Given the description of an element on the screen output the (x, y) to click on. 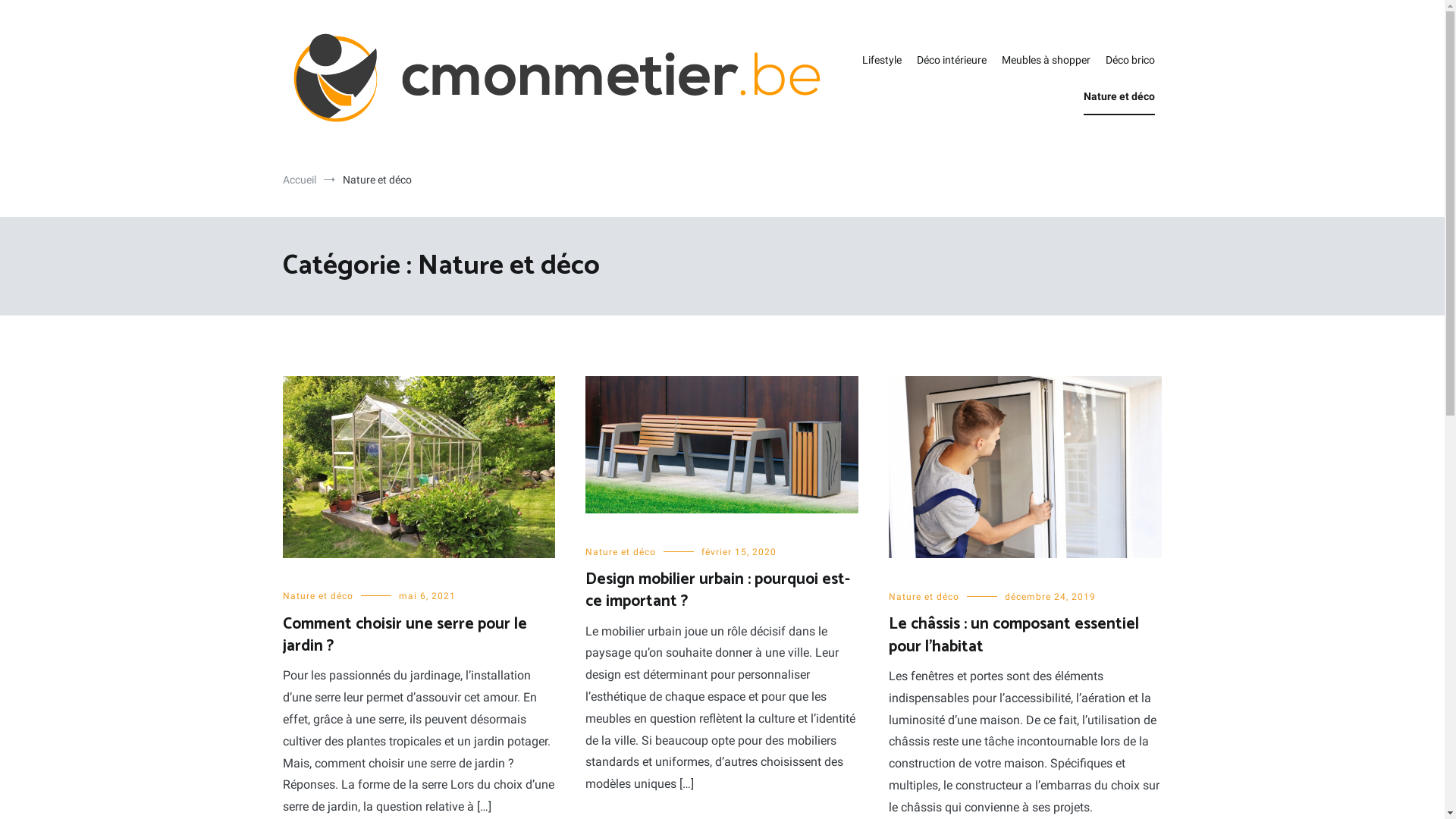
Rechercher Element type: text (56, 16)
Accueil Element type: text (298, 179)
Lifestyle Element type: text (880, 60)
Comment choisir une serre pour le jardin ? Element type: text (404, 634)
mai 6, 2021 Element type: text (426, 595)
Design mobilier urbain : pourquoi est-ce important ? Element type: text (717, 590)
